Given the description of an element on the screen output the (x, y) to click on. 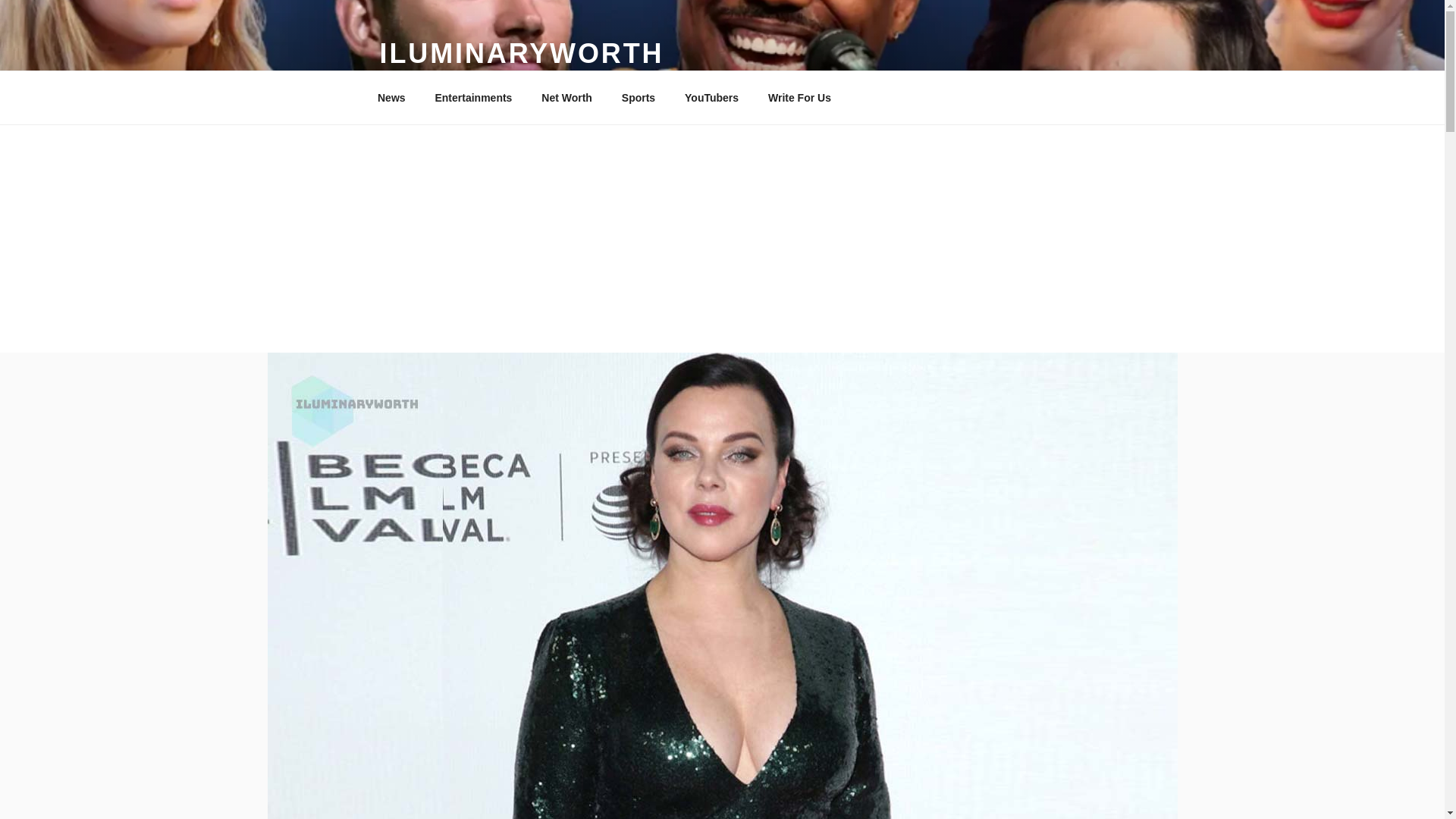
Write For Us (799, 97)
Entertainments (473, 97)
Net Worth (566, 97)
Sports (638, 97)
News (391, 97)
ILUMINARYWORTH (520, 52)
YouTubers (711, 97)
